Given the description of an element on the screen output the (x, y) to click on. 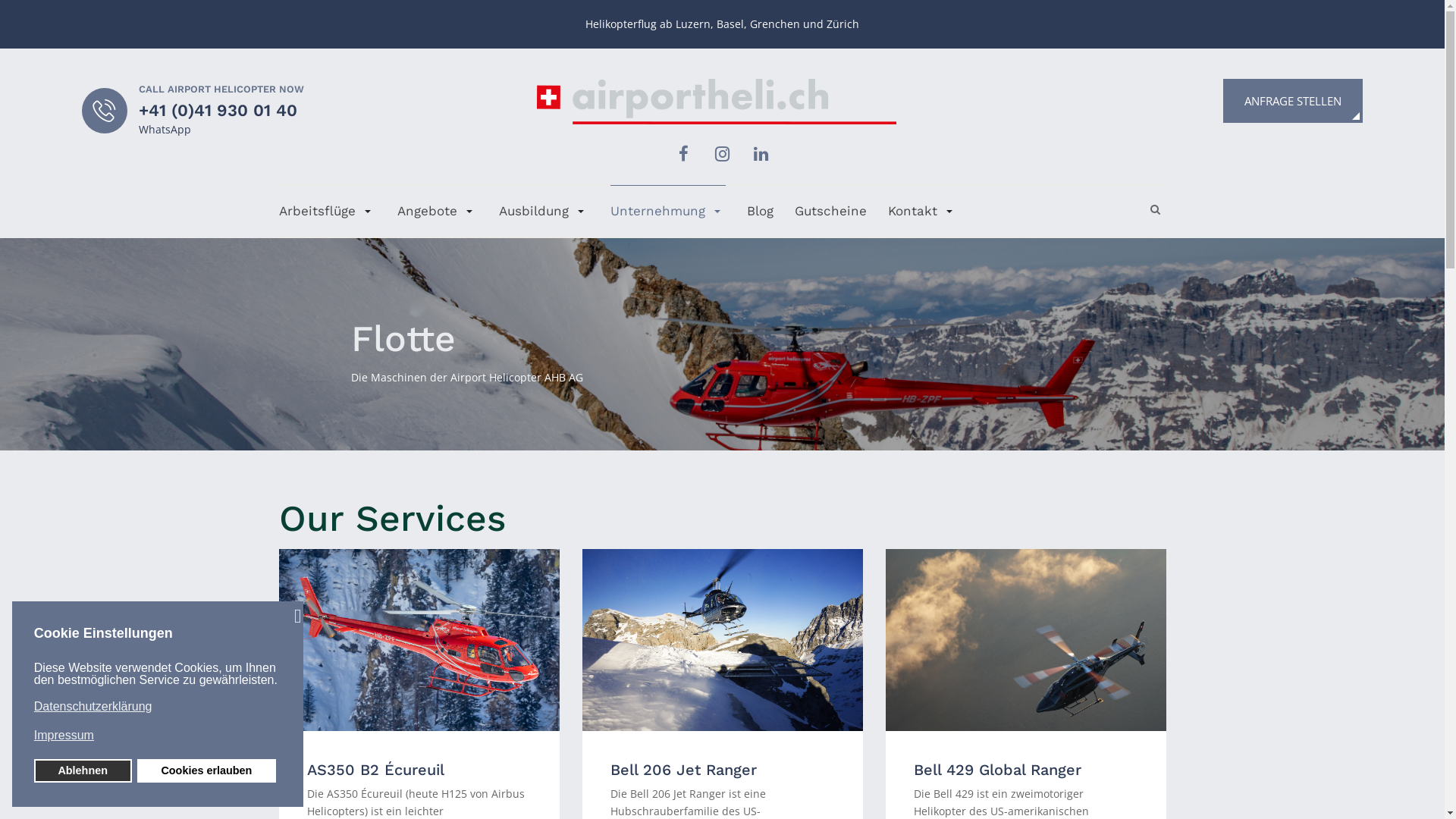
Ablehnen Element type: text (82, 770)
Bell 429 Global Ranger Element type: text (997, 769)
linkedin Element type: hover (760, 153)
Unternehmung Element type: text (666, 210)
Bell 206 Jet Ranger Element type: text (683, 769)
Angebote Element type: text (437, 210)
Cookies erlauben Element type: text (206, 770)
Ausbildung Element type: text (543, 210)
Airport Helicopter AHB AG Element type: hover (716, 100)
facebook Element type: hover (683, 153)
Gutscheine Element type: text (830, 210)
ANFRAGE STELLEN Element type: text (1292, 100)
+41 (0)41 930 01 40 Element type: text (217, 109)
Kontakt Element type: text (922, 210)
Blog Element type: text (759, 210)
WhatsApp Element type: text (164, 129)
instagram Element type: hover (722, 153)
Impressum Element type: text (156, 735)
